Given the description of an element on the screen output the (x, y) to click on. 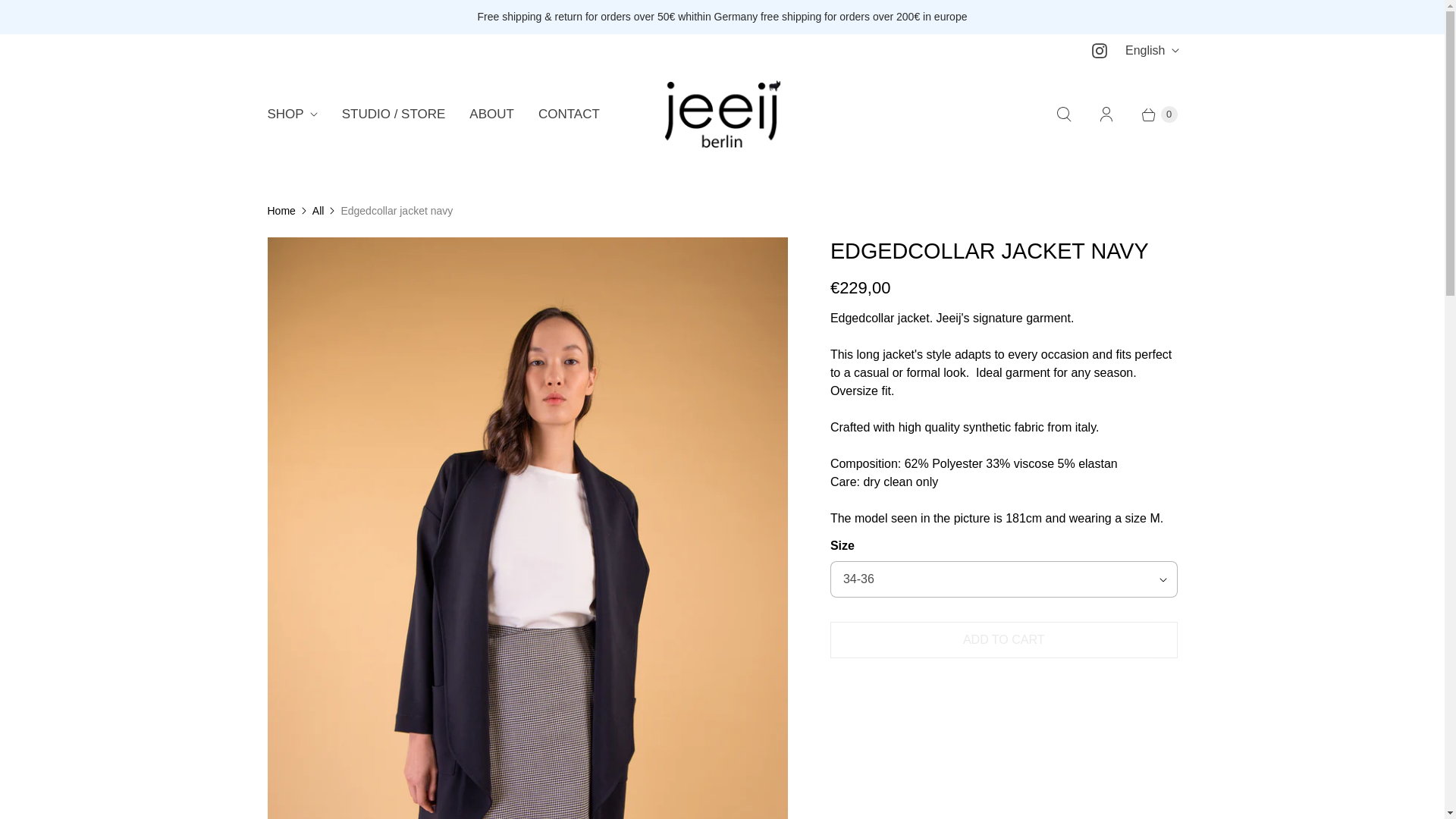
ABOUT (491, 114)
0 (1151, 114)
English (1151, 50)
CONTACT (568, 114)
